Given the description of an element on the screen output the (x, y) to click on. 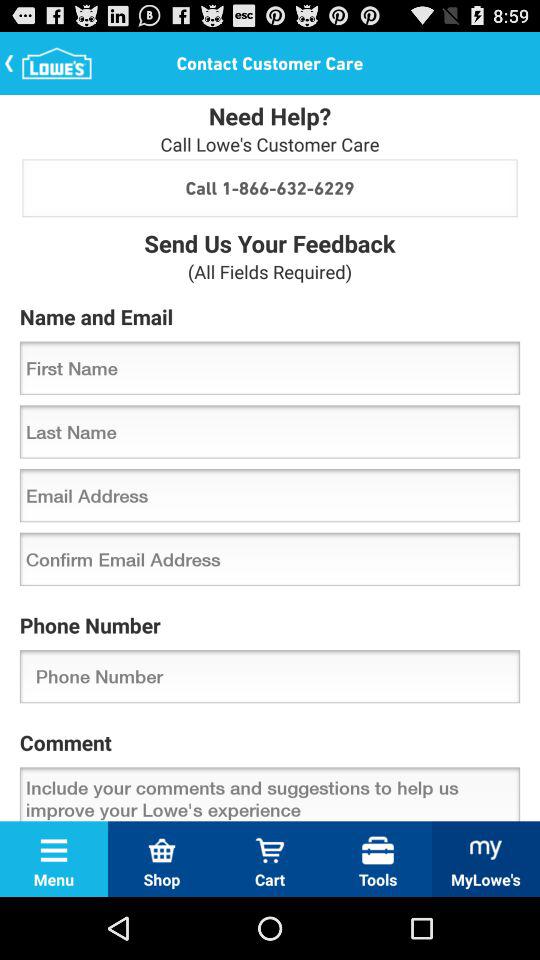
press the icon below the call lowe s (269, 187)
